Given the description of an element on the screen output the (x, y) to click on. 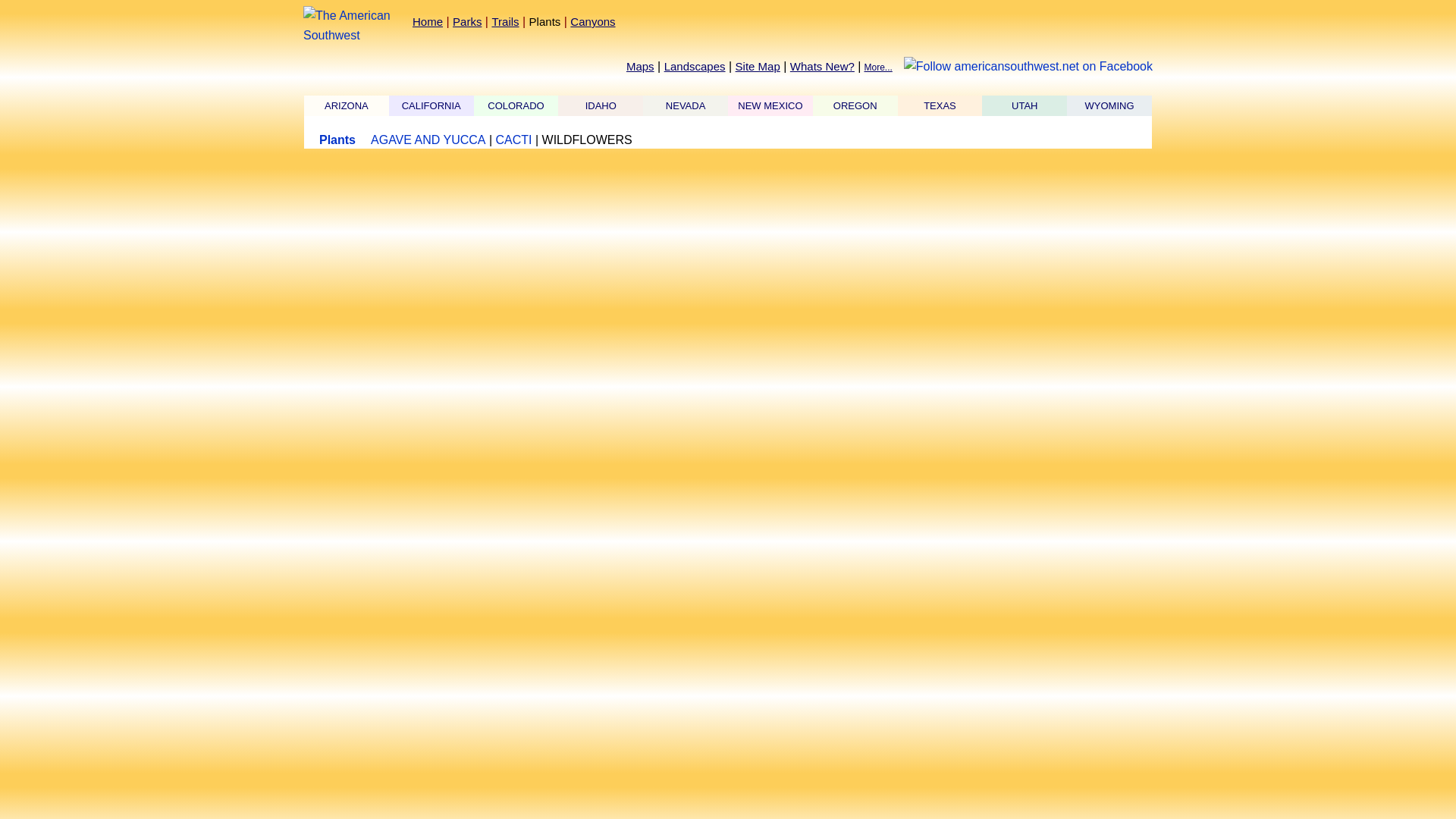
Texas (939, 105)
Latest articles (822, 65)
More... (877, 67)
Arizona (346, 105)
Index of all pages on americansouthwest.net (757, 65)
Follow americansouthwest.net on Facebook (1028, 66)
Landscapes (694, 65)
National and state parks of the Southwest (466, 21)
Canyons (592, 21)
Whats New? (822, 65)
